Given the description of an element on the screen output the (x, y) to click on. 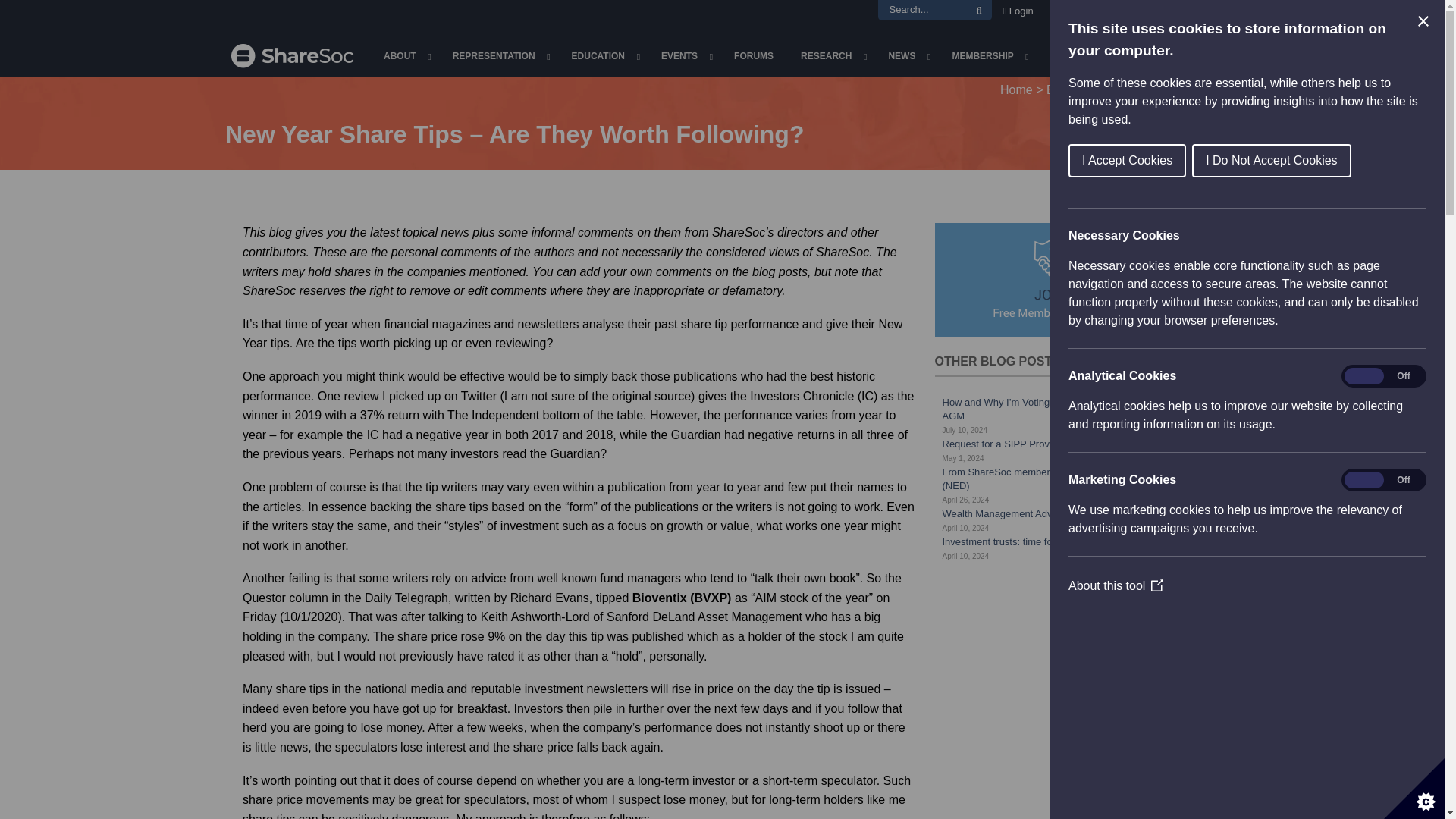
Login (1018, 11)
Contact (1076, 11)
I Accept Cookies (1325, 160)
ABOUT (404, 56)
Join (1182, 11)
Donate (1135, 11)
